Given the description of an element on the screen output the (x, y) to click on. 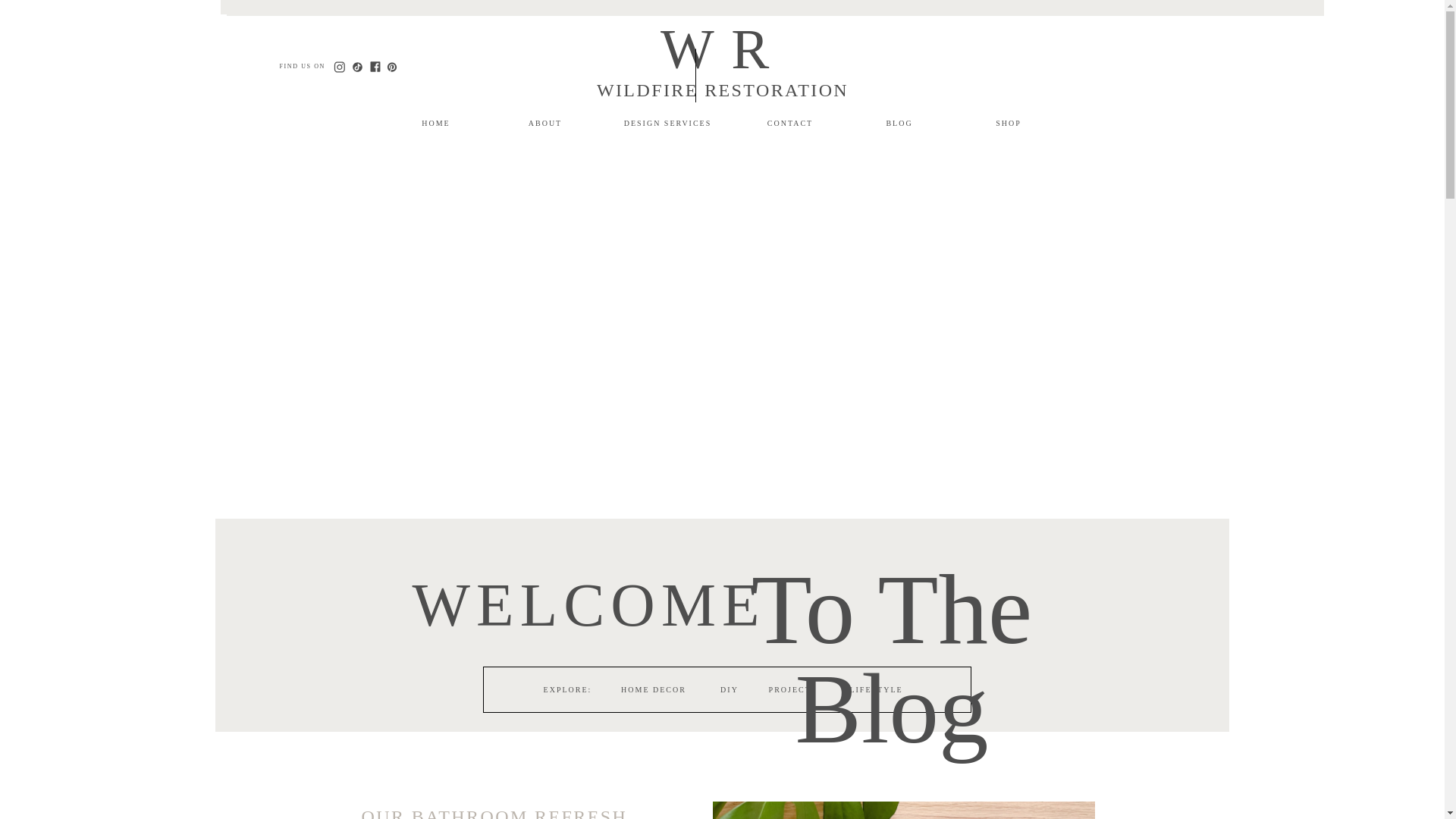
LIFESTYLE (876, 693)
Instagram-color Created with Sketch. (339, 66)
DIY (729, 693)
HOME (434, 121)
SHOP (1008, 121)
BLOG (899, 121)
PROJECTS (793, 693)
Instagram-color Created with Sketch. (339, 66)
HOME DECOR (653, 693)
OUR BATHROOM REFRESH HAS STARTED! (494, 812)
